Given the description of an element on the screen output the (x, y) to click on. 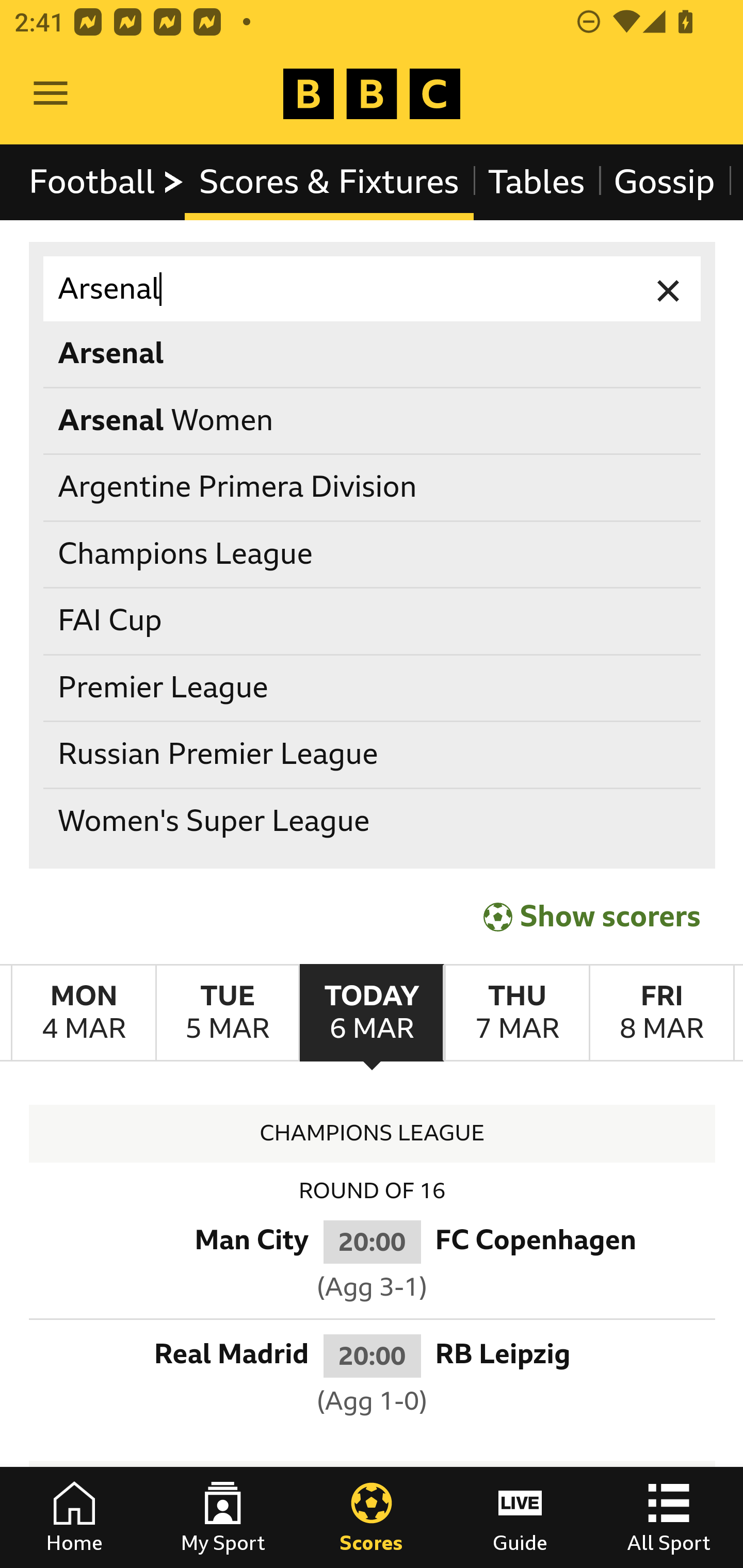
Open Menu (50, 93)
Football  (106, 181)
Scores & Fixtures (329, 181)
Tables (536, 181)
Gossip (664, 181)
Arsenal (372, 289)
Clear input (669, 289)
Arsenal Women Arsenal  Women (372, 419)
Argentine Primera Division (372, 488)
Champions League (372, 554)
FAI Cup (372, 620)
Premier League (372, 687)
Russian Premier League (372, 755)
Women's Super League (372, 821)
Show scorers (591, 916)
MondayMarch 4th Monday March 4th (83, 1012)
TuesdayMarch 5th Tuesday March 5th (227, 1012)
ThursdayMarch 7th Thursday March 7th (516, 1012)
FridayMarch 8th Friday March 8th (661, 1012)
Home (74, 1517)
My Sport (222, 1517)
Guide (519, 1517)
All Sport (668, 1517)
